Given the description of an element on the screen output the (x, y) to click on. 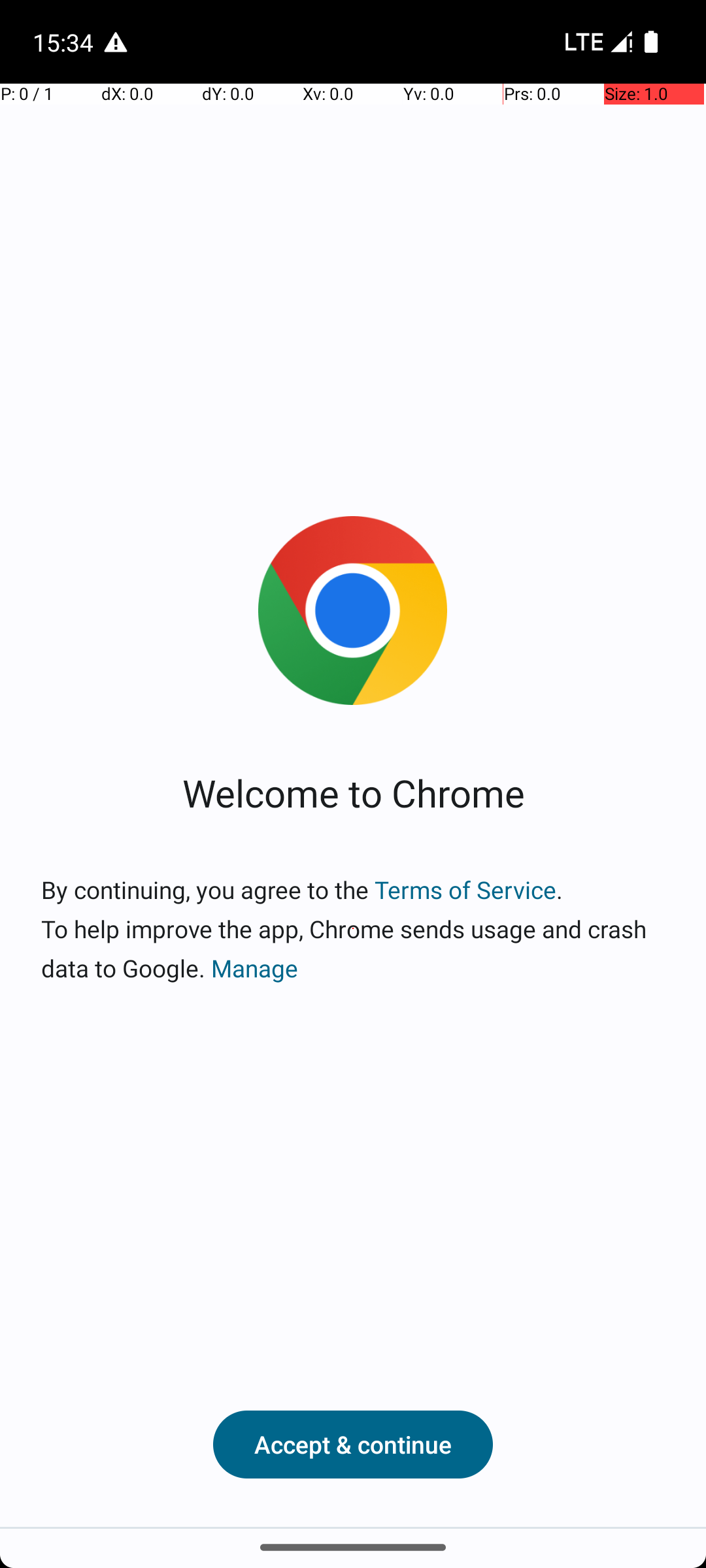
Accept & continue Element type: android.widget.Button (352, 1444)
By continuing, you agree to the Terms of Service.
To help improve the app, Chrome sends usage and crash data to Google. Manage Element type: android.widget.TextView (352, 928)
